Given the description of an element on the screen output the (x, y) to click on. 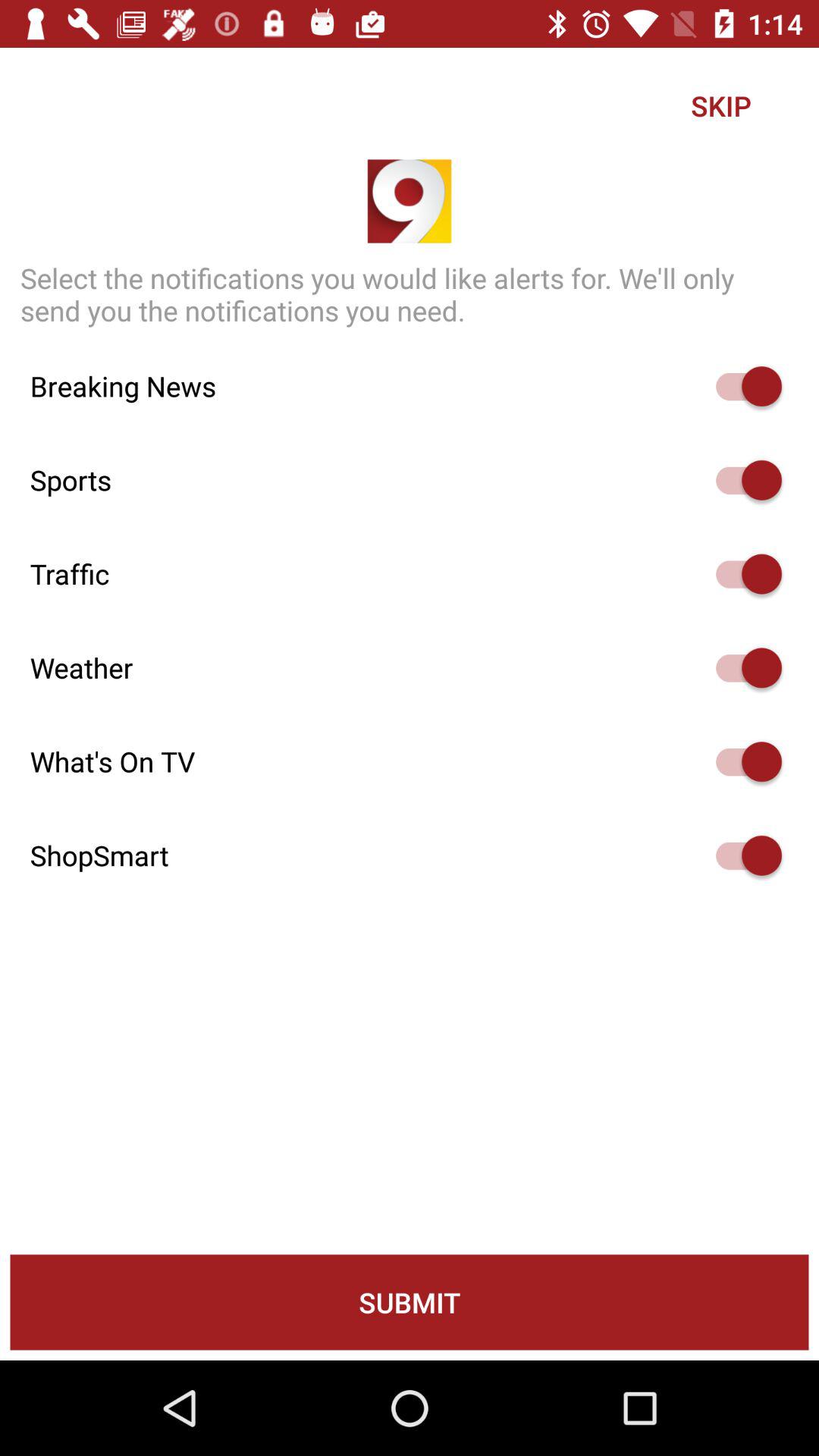
auto play (741, 386)
